Given the description of an element on the screen output the (x, y) to click on. 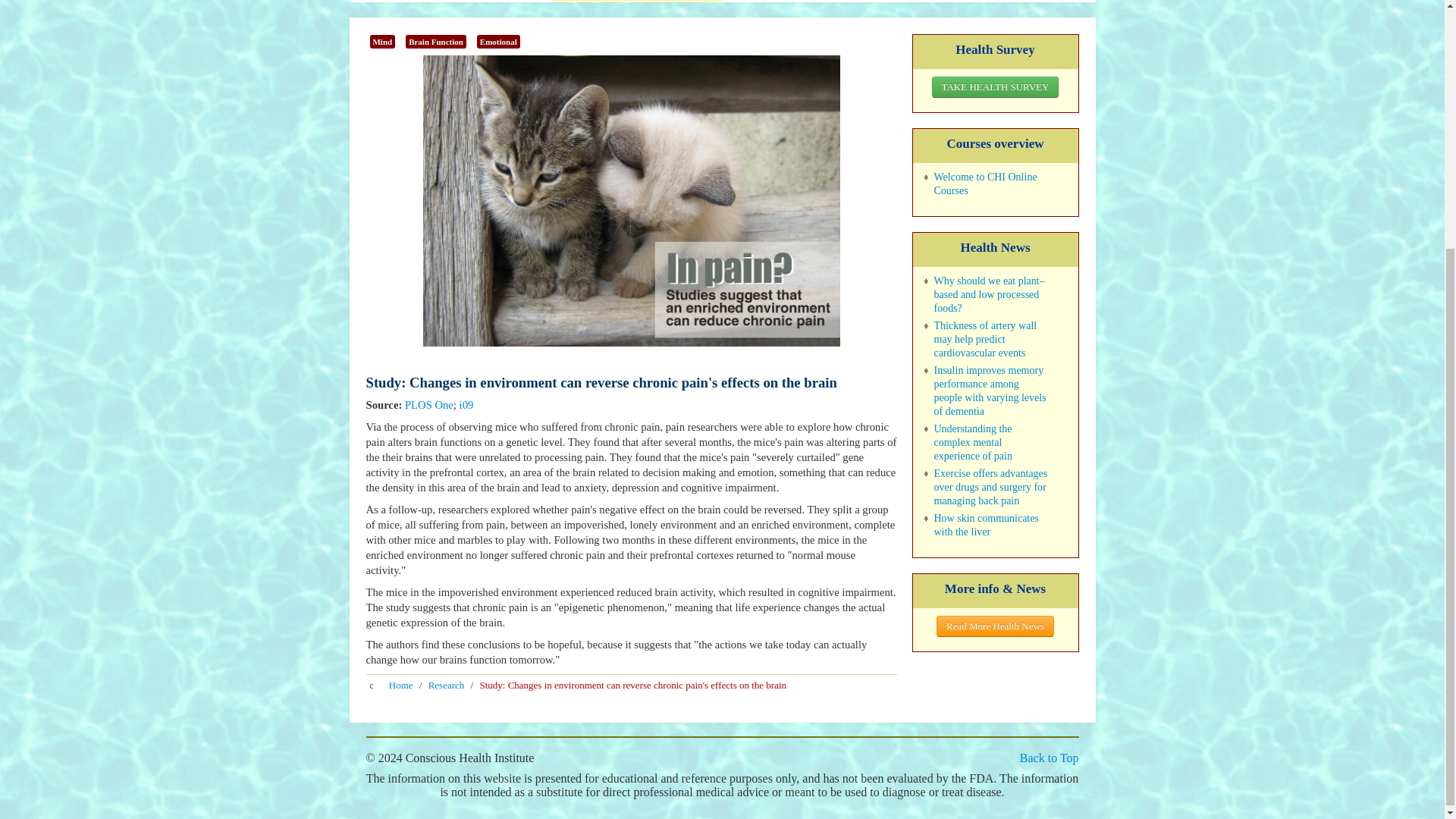
Read More Health News (995, 626)
Research (446, 685)
PLOS One (428, 404)
Back to Top (1049, 757)
Mind (382, 41)
Emotional (498, 41)
TAKE HEALTH SURVEY (995, 86)
